Given the description of an element on the screen output the (x, y) to click on. 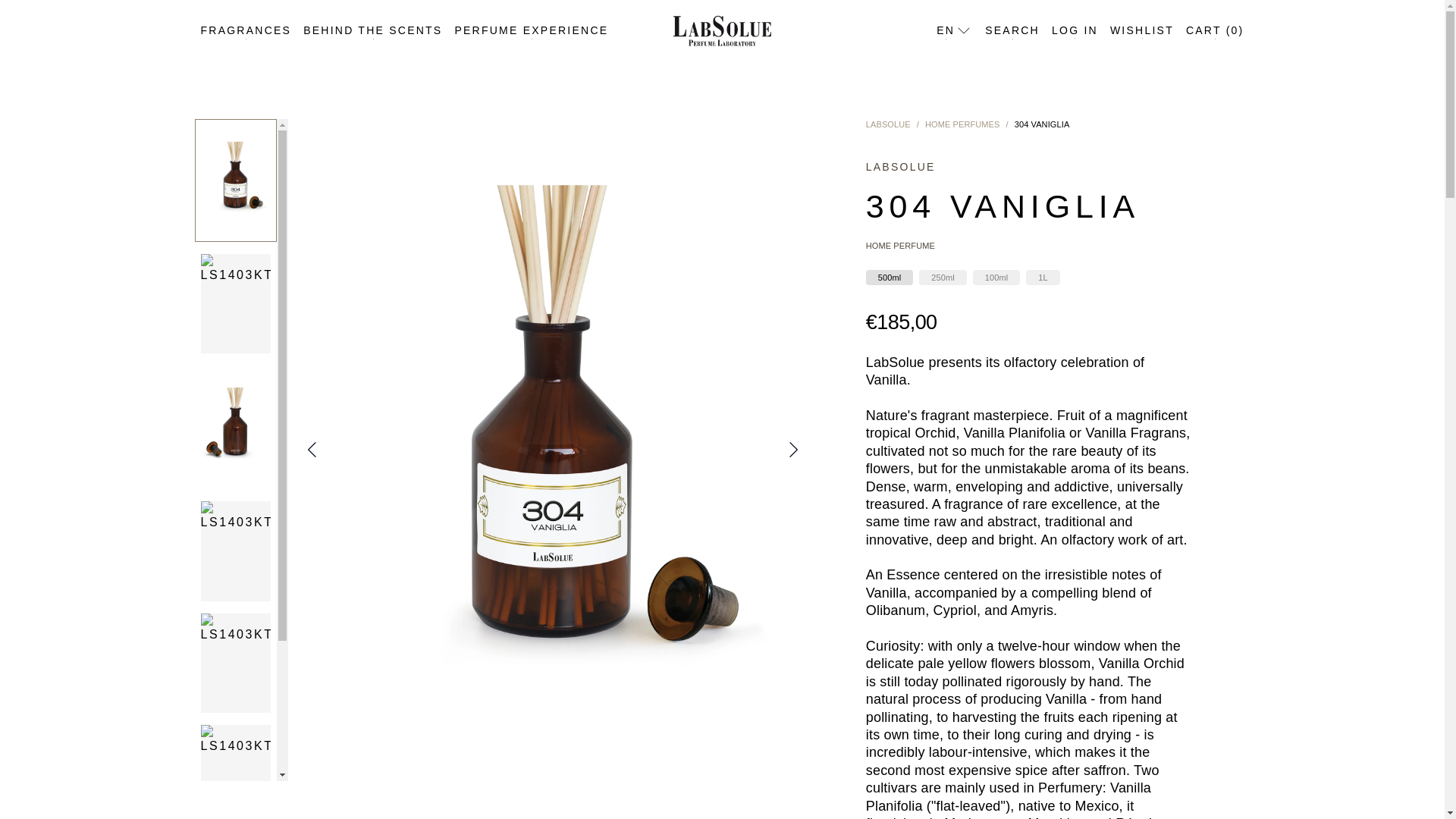
LabSolue (721, 30)
HOME PERFUMES (962, 123)
LabSolue (888, 123)
Log in (1074, 30)
Wishlist (1141, 30)
